Given the description of an element on the screen output the (x, y) to click on. 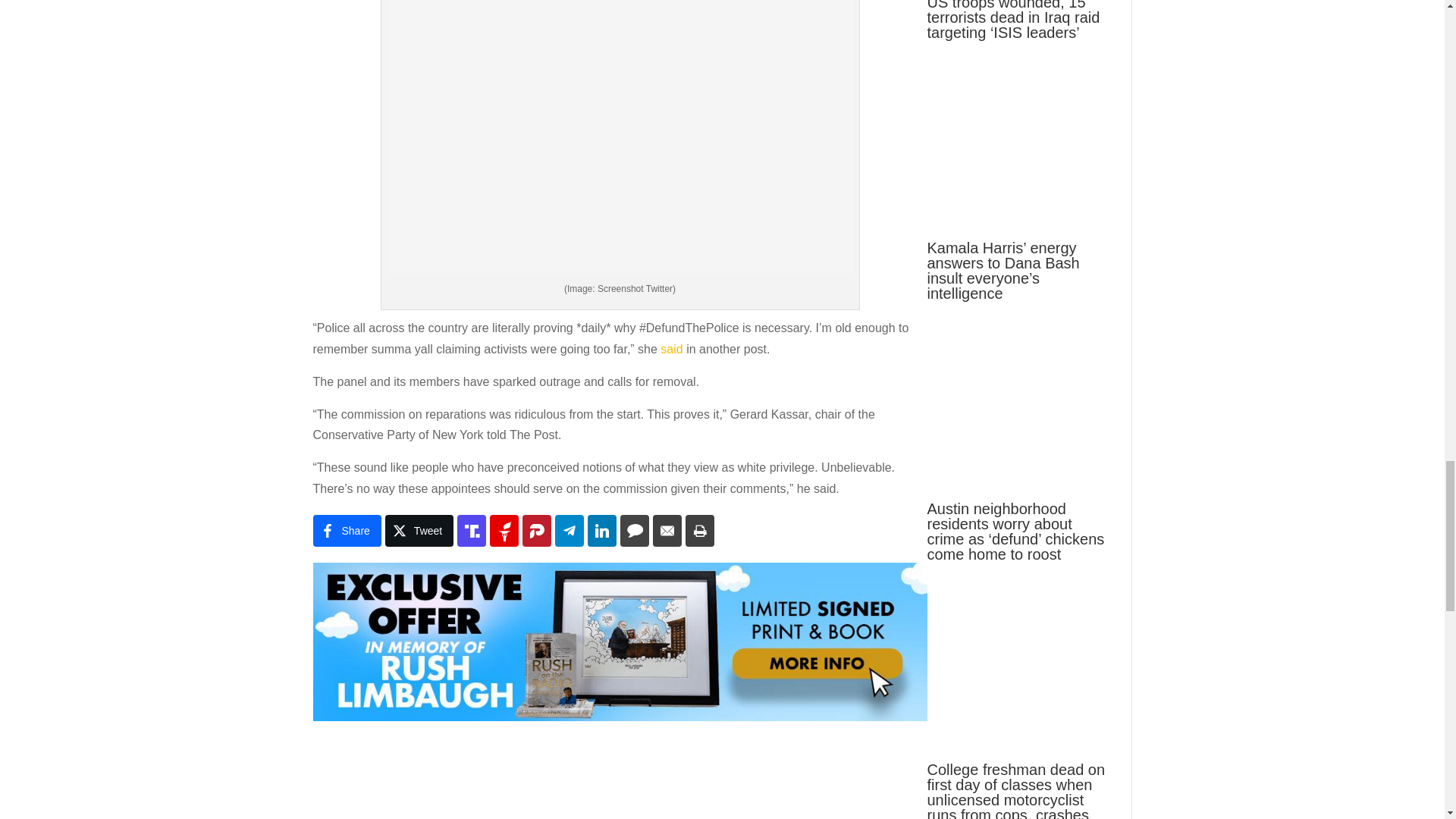
Tweet (418, 531)
said (671, 349)
Share on Share (346, 531)
Share (346, 531)
